Given the description of an element on the screen output the (x, y) to click on. 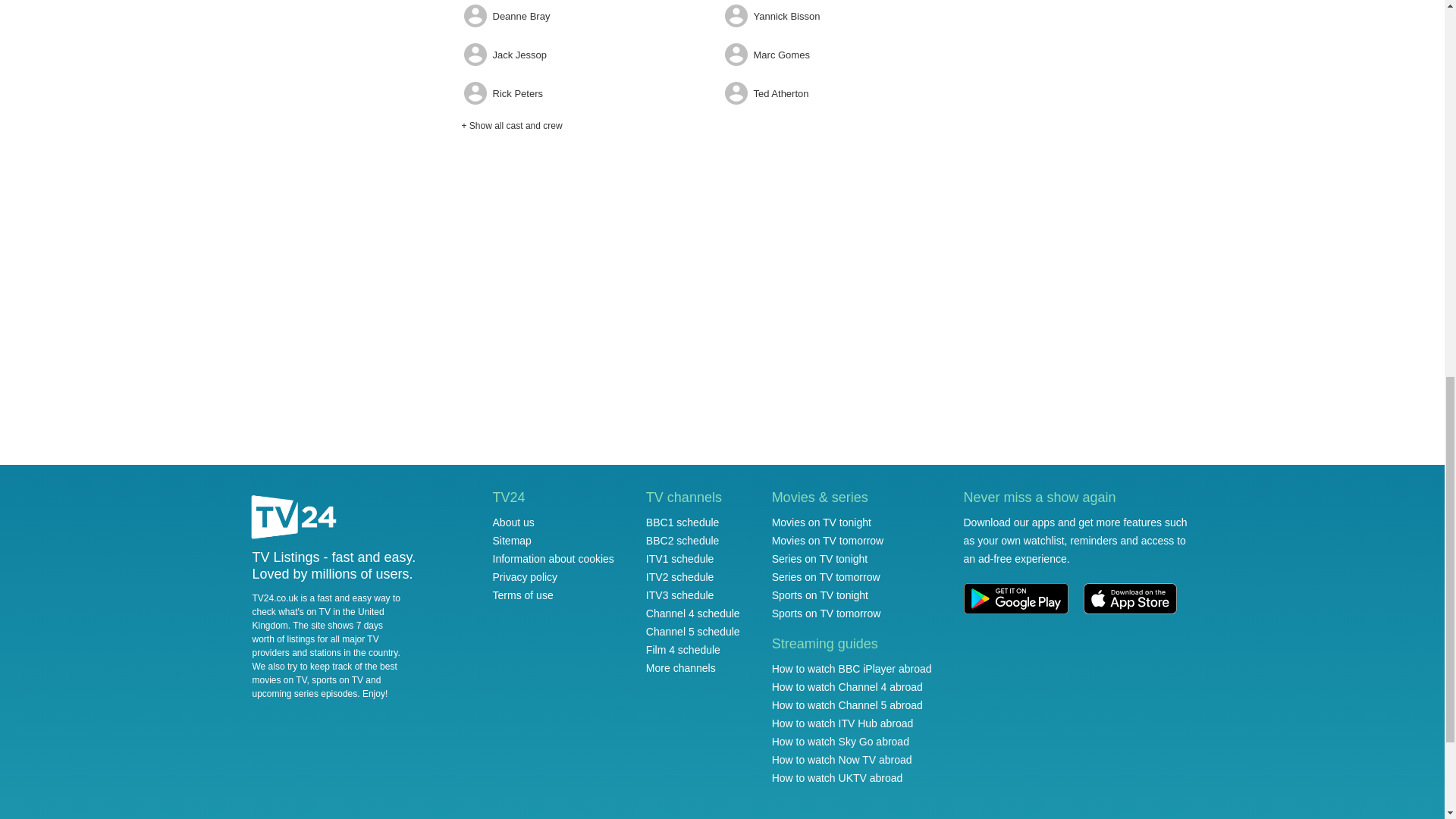
ITV1 schedule (680, 558)
BBC2 schedule (682, 540)
More channels (681, 667)
Sitemap (512, 540)
ITV2 schedule (680, 576)
ITV3 schedule (680, 594)
Channel 4 schedule (692, 613)
the best movies on TV (323, 672)
BBC1 schedule (682, 522)
ITV2 schedule (680, 576)
More channels (681, 667)
TV24.co.uk (294, 519)
Information about cookies (553, 558)
Privacy policy (525, 576)
ITV3 schedule (680, 594)
